Given the description of an element on the screen output the (x, y) to click on. 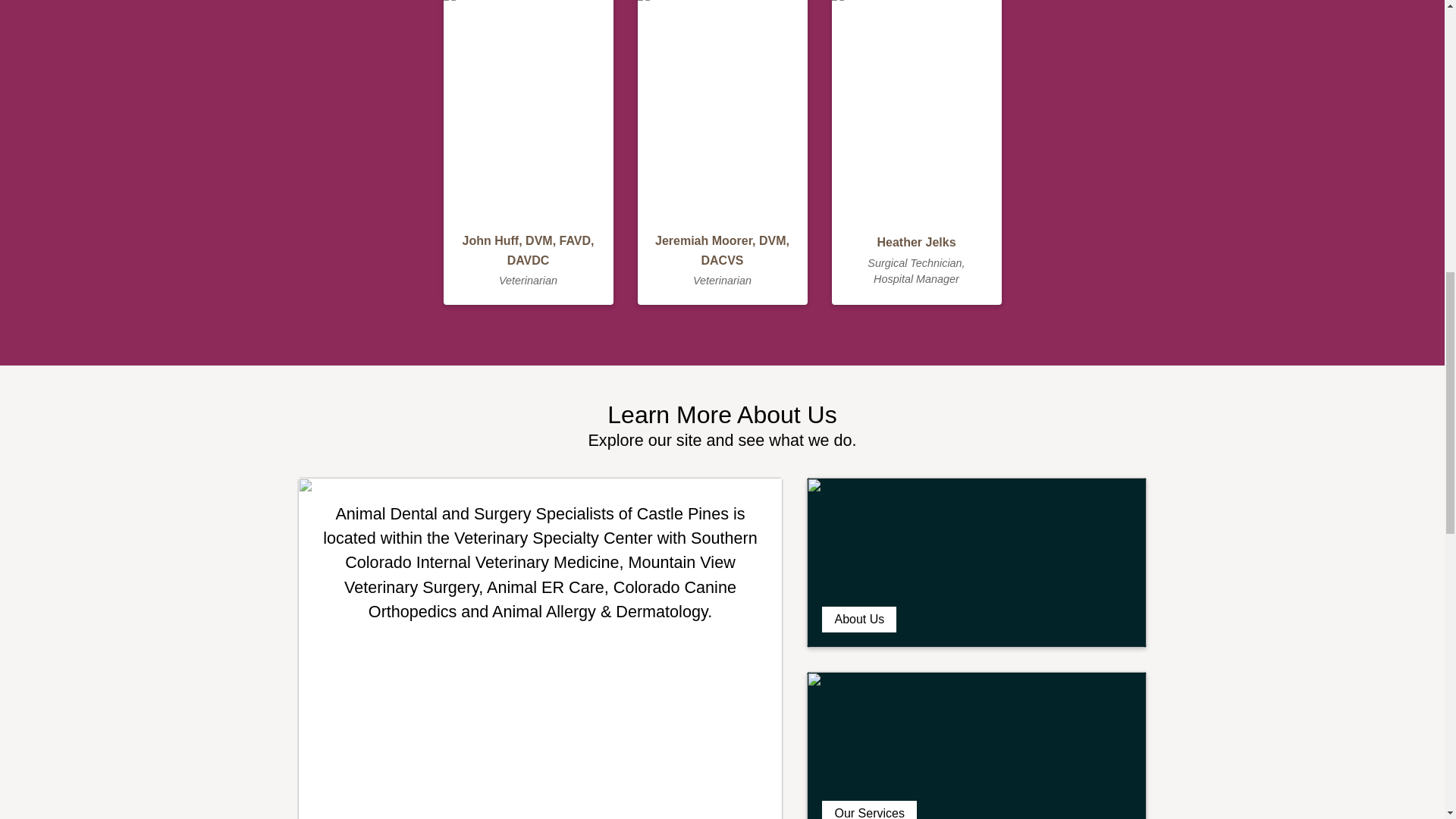
About Us (976, 562)
Our Services (976, 745)
Top (1408, 24)
